Given the description of an element on the screen output the (x, y) to click on. 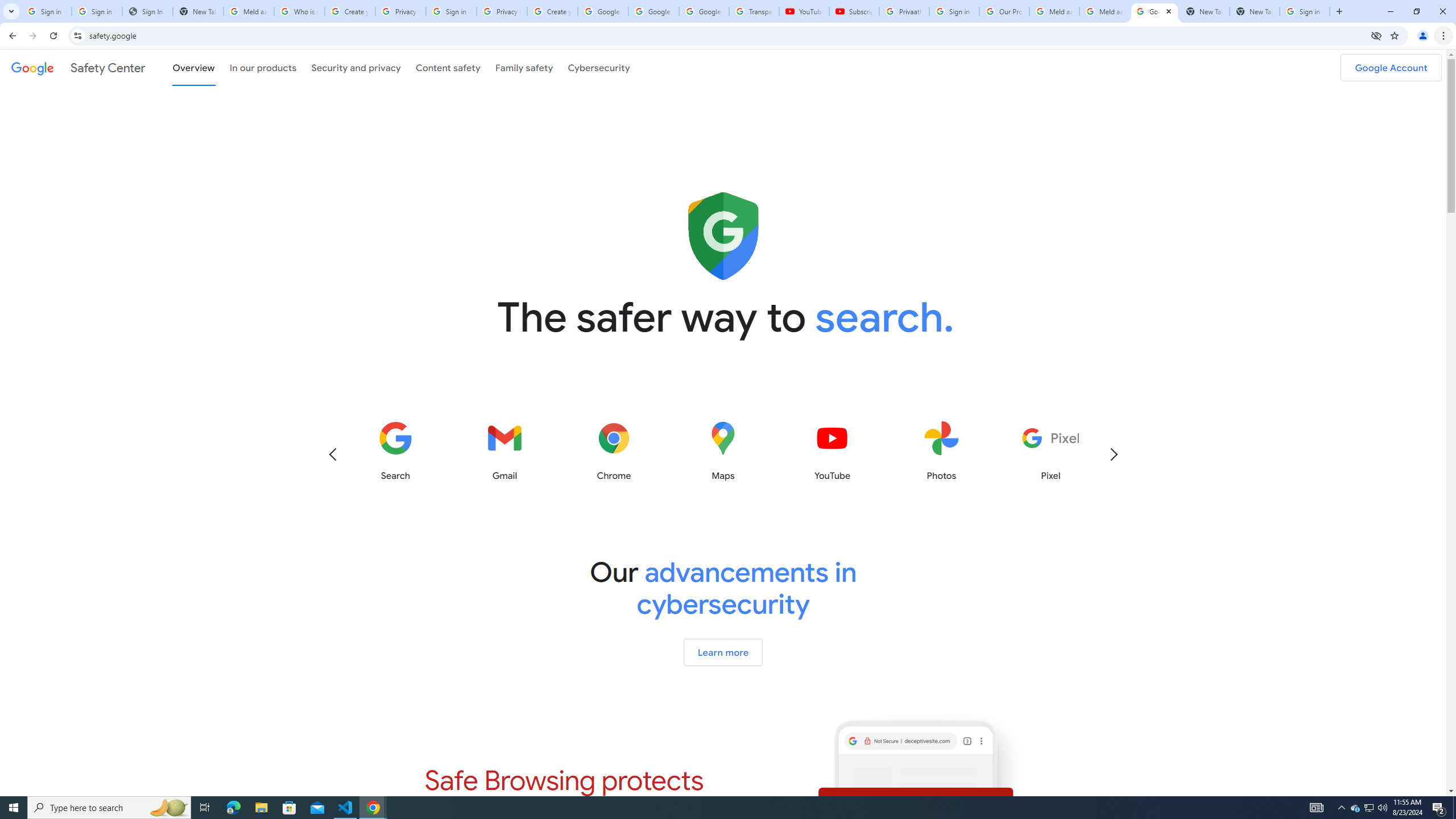
Create your Google Account (552, 11)
Learn more about Maps (722, 451)
Google Account (1390, 67)
Sign in - Google Accounts (46, 11)
Who is my administrator? - Google Account Help (299, 11)
Safety Center (78, 67)
